Given the description of an element on the screen output the (x, y) to click on. 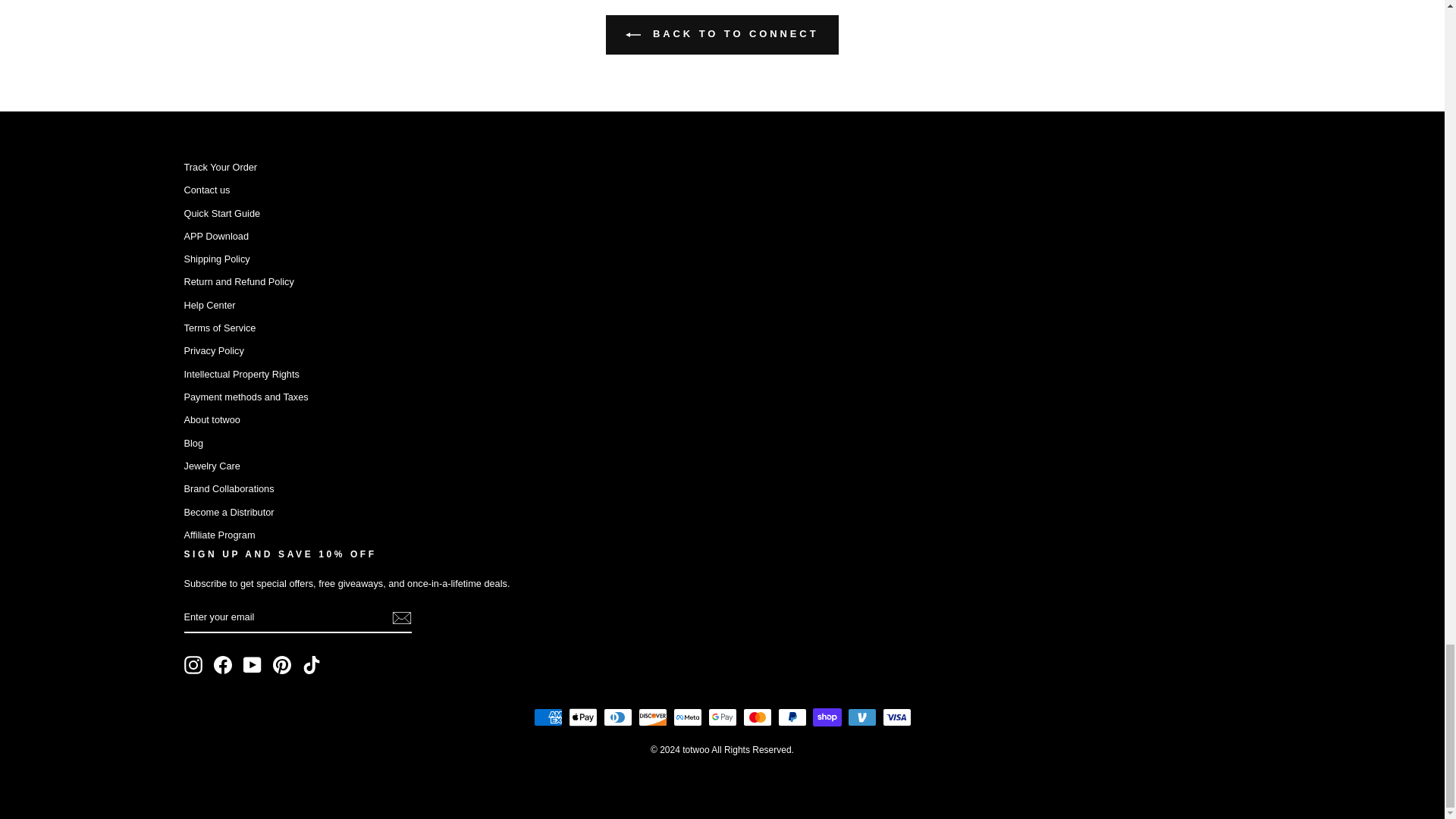
American Express (548, 717)
instagram (192, 665)
Apple Pay (582, 717)
icon-email (400, 618)
Diners Club (617, 717)
ICON-LEFT-ARROW (633, 34)
